Given the description of an element on the screen output the (x, y) to click on. 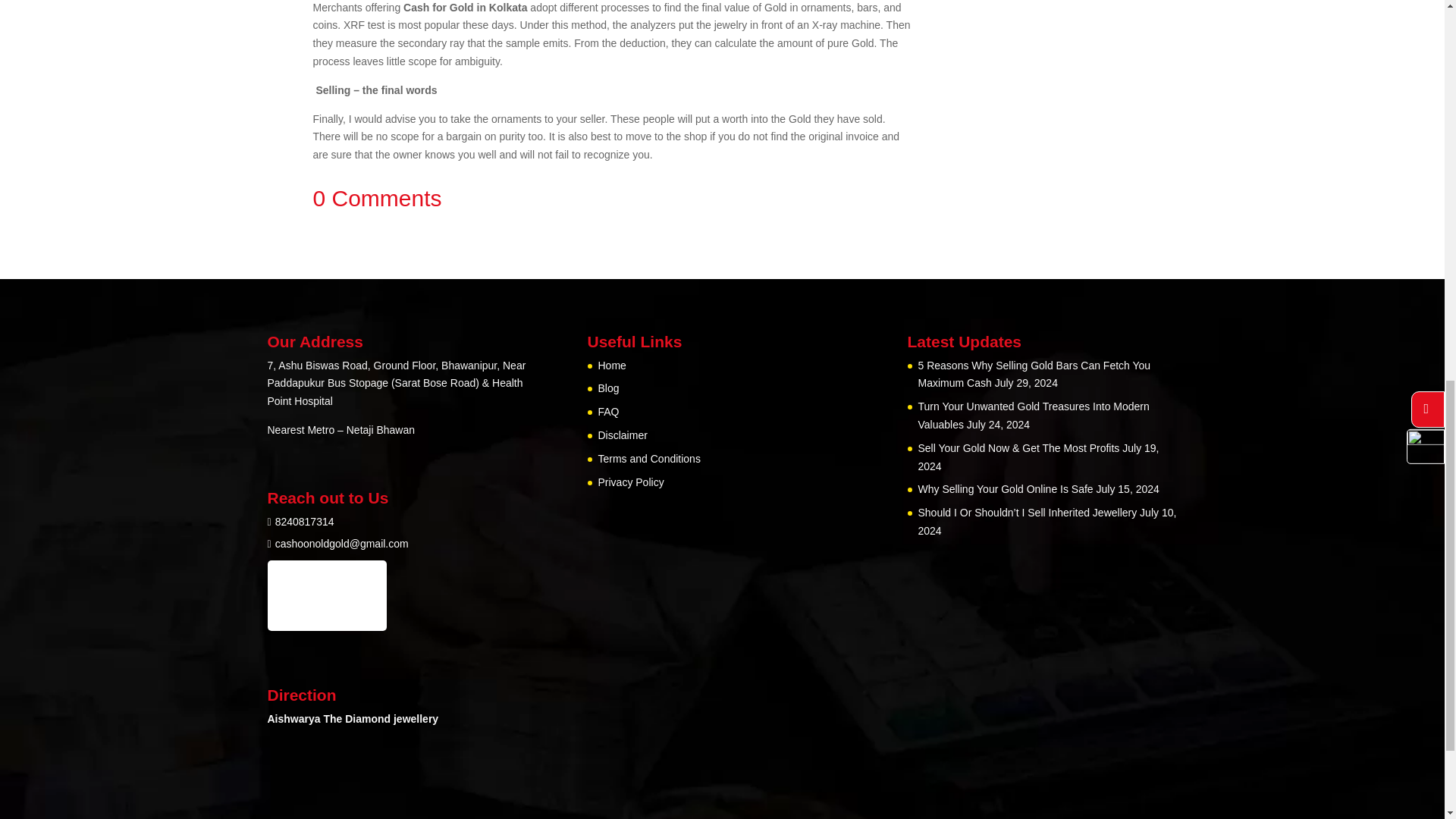
Turn Your Unwanted Gold Treasures Into Modern Valuables (1032, 743)
5 Reasons Why Selling Gold Bars Can Fetch You Maximum Cash (1033, 702)
Home (611, 693)
FAQ (607, 739)
Why Selling Your Gold Online Is Safe (1005, 814)
Privacy Policy (629, 809)
Disclaimer (621, 762)
Cash for Gold in Kolkata (741, 18)
Terms and Conditions (648, 786)
Blog (607, 715)
